Given the description of an element on the screen output the (x, y) to click on. 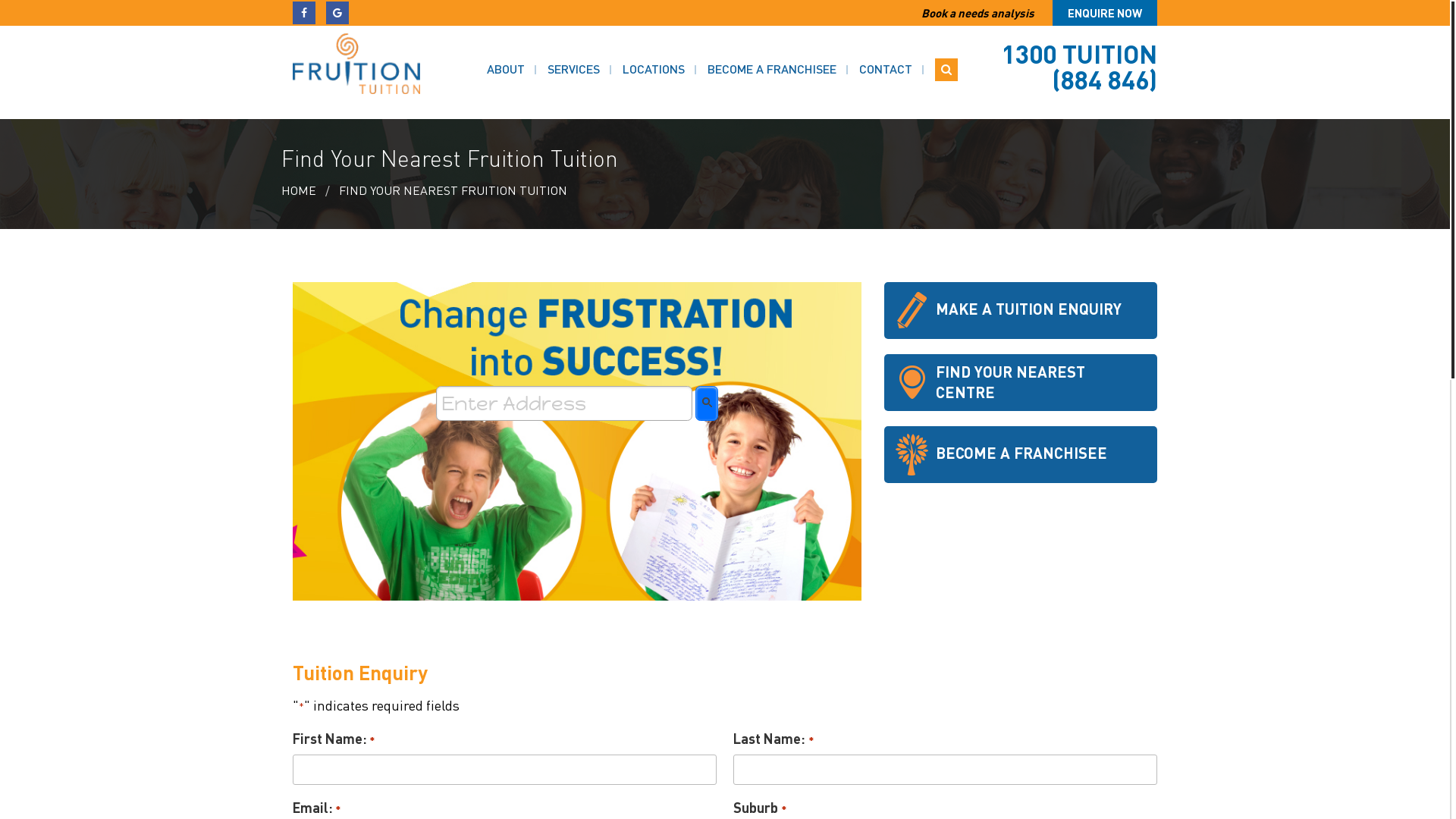
MAKE A TUITION ENQUIRY Element type: text (1020, 310)
CONTACT Element type: text (885, 68)
FIND YOUR NEAREST CENTRE Element type: text (1020, 382)
LOCATIONS Element type: text (653, 68)
1300 TUITION
(884 846) Element type: text (1079, 66)
ENQUIRE NOW Element type: text (1104, 12)
HOME Element type: text (298, 189)
SERVICES Element type: text (573, 68)
BECOME A FRANCHISEE Element type: text (771, 68)
BECOME A FRANCHISEE Element type: text (1020, 454)
ABOUT Element type: text (505, 68)
